Given the description of an element on the screen output the (x, y) to click on. 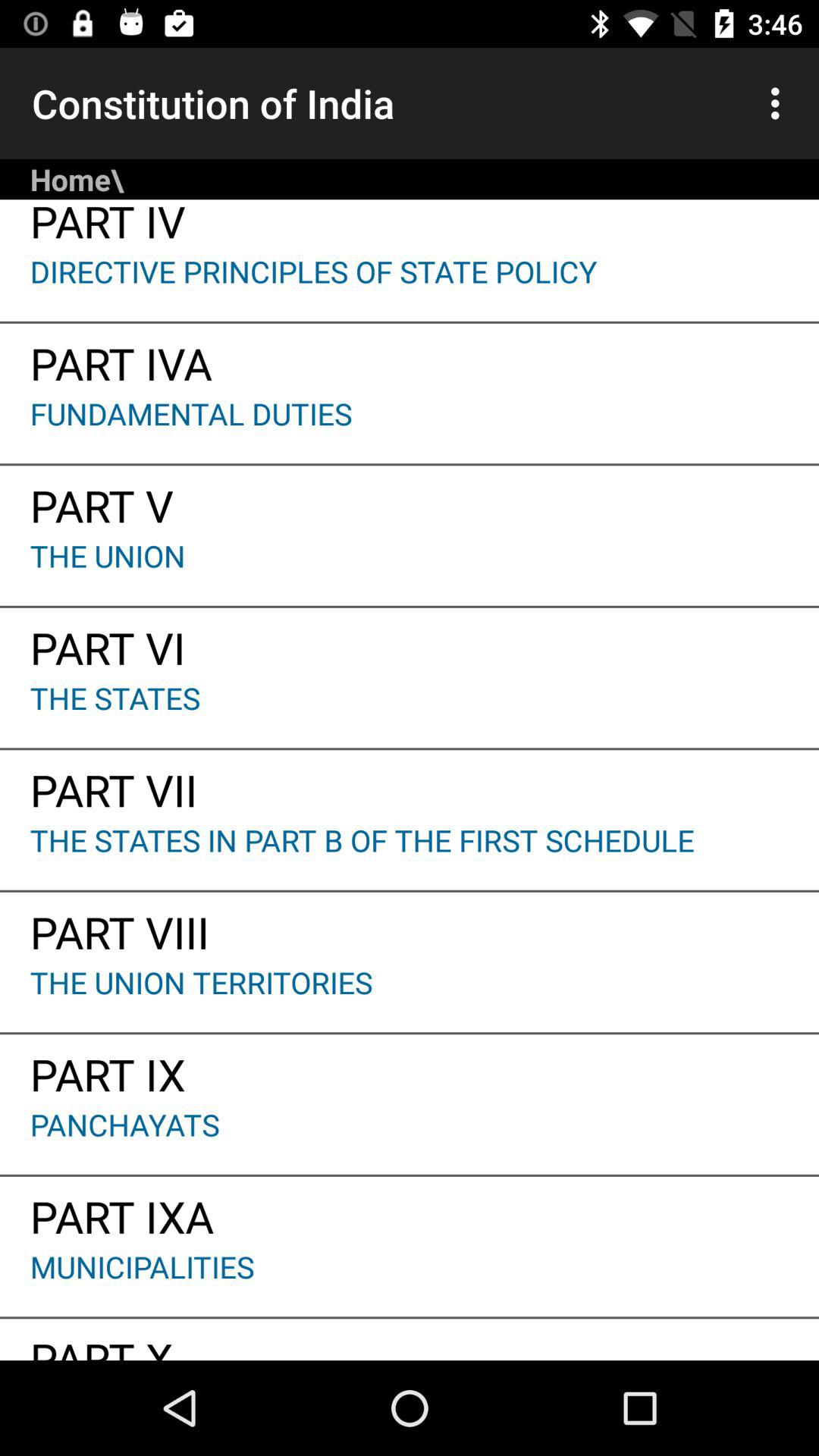
launch item below the home\ (409, 225)
